Given the description of an element on the screen output the (x, y) to click on. 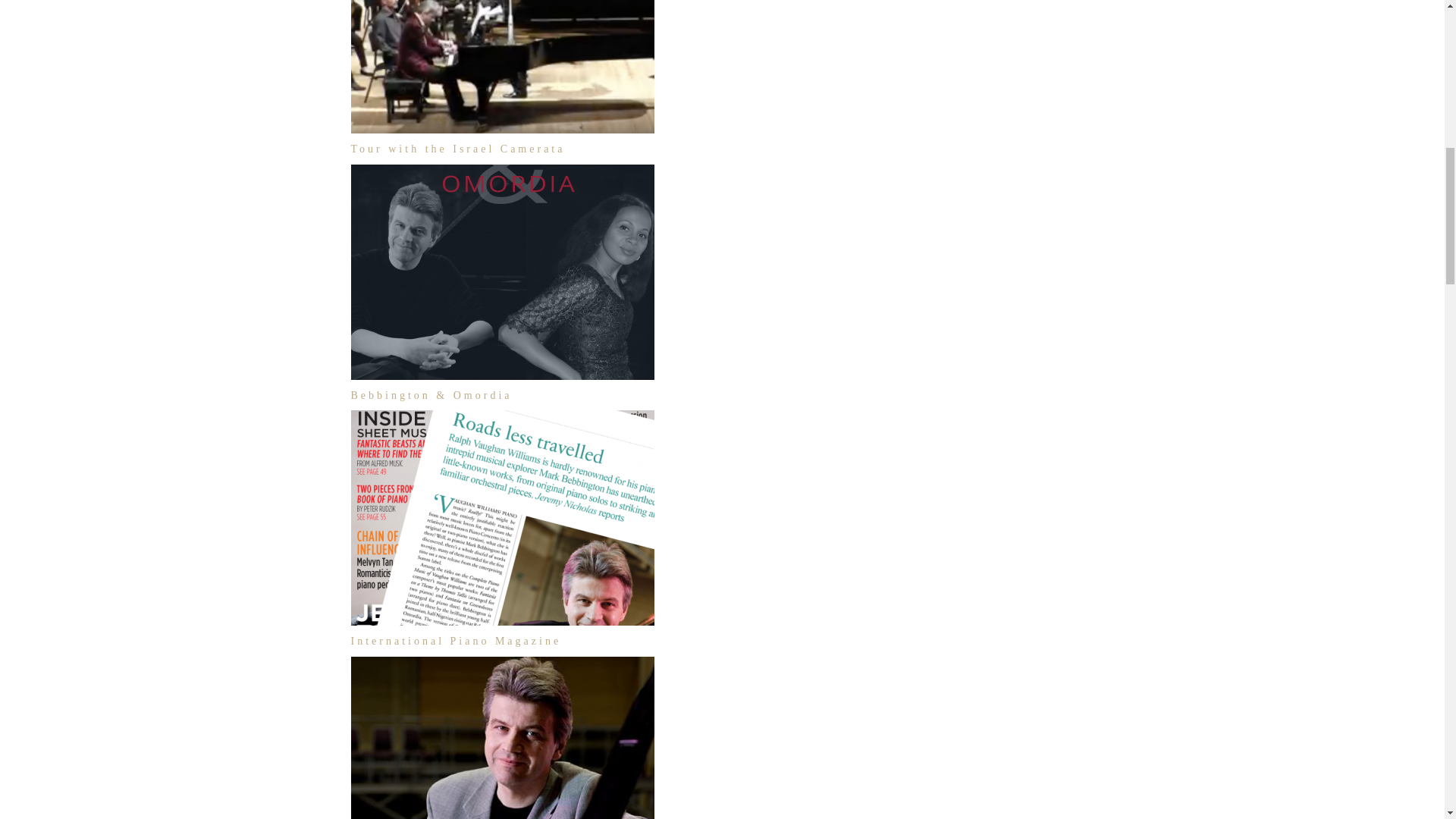
Tour with the Israel Camerata (457, 148)
International Piano Magazine (455, 641)
